Given the description of an element on the screen output the (x, y) to click on. 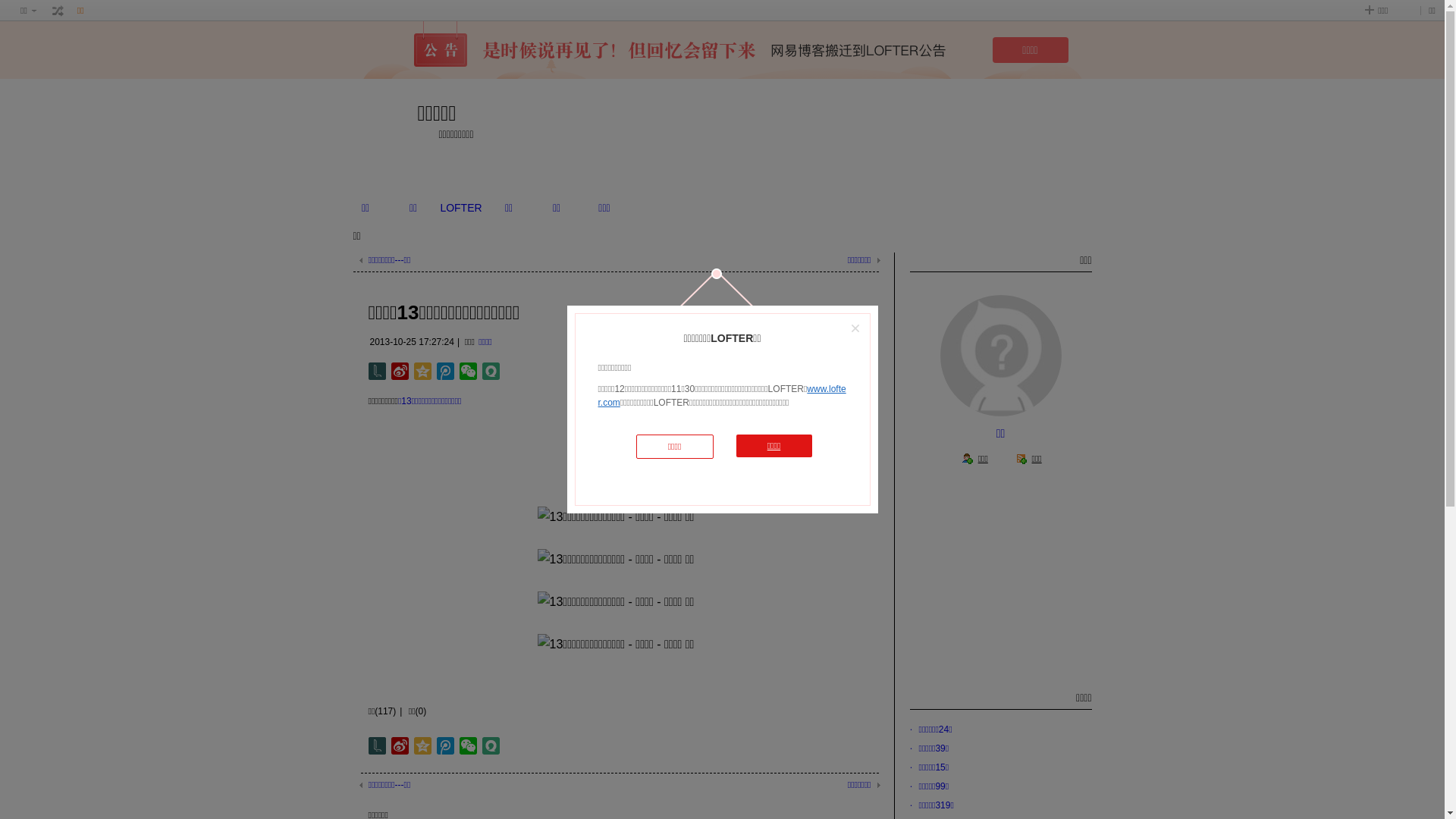
www.lofter.com Element type: text (721, 395)
  Element type: text (58, 10)
LOFTER Element type: text (460, 207)
